Given the description of an element on the screen output the (x, y) to click on. 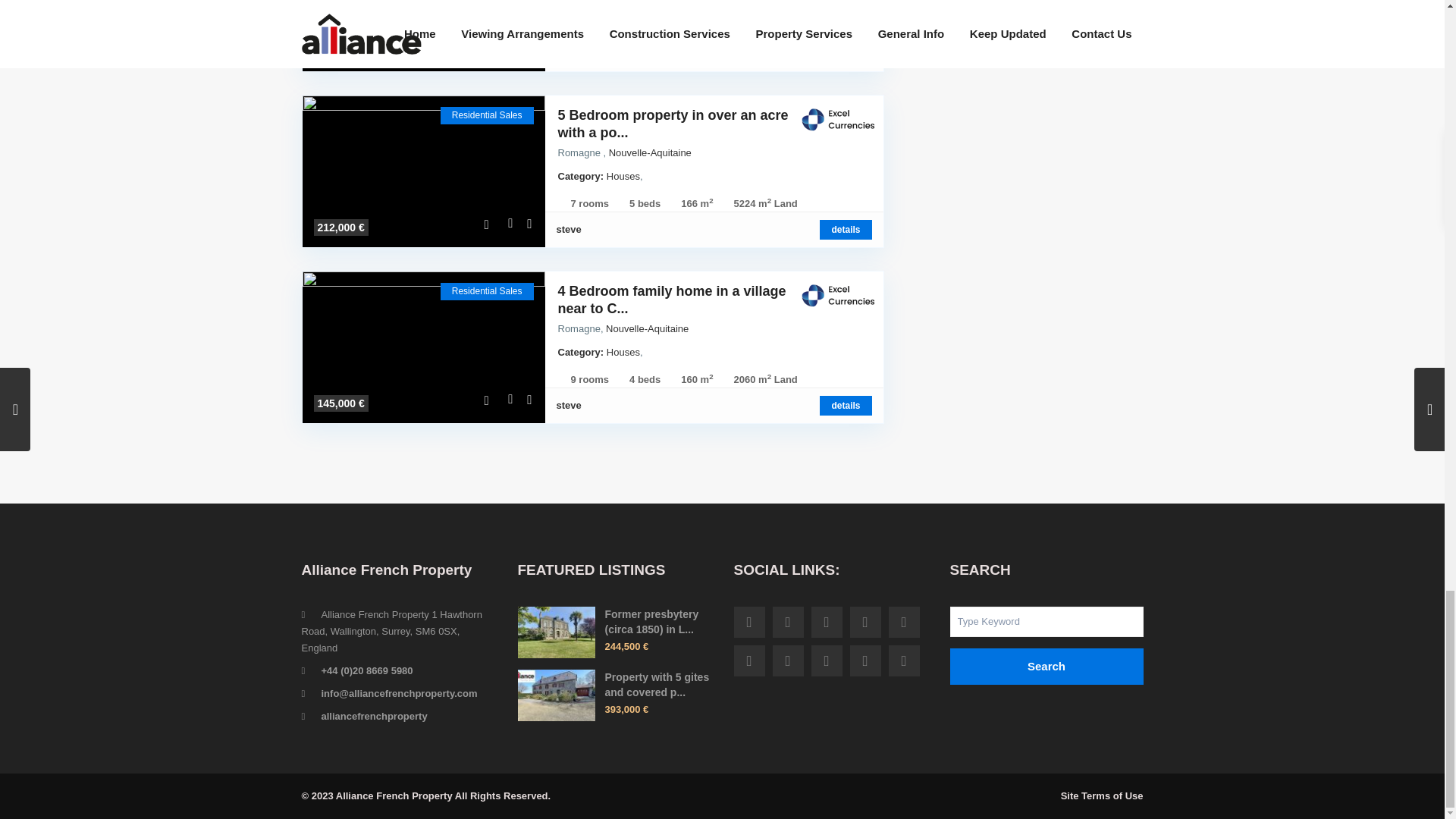
Excelcurrencies (837, 119)
Excelcurrencies (837, 294)
